Given the description of an element on the screen output the (x, y) to click on. 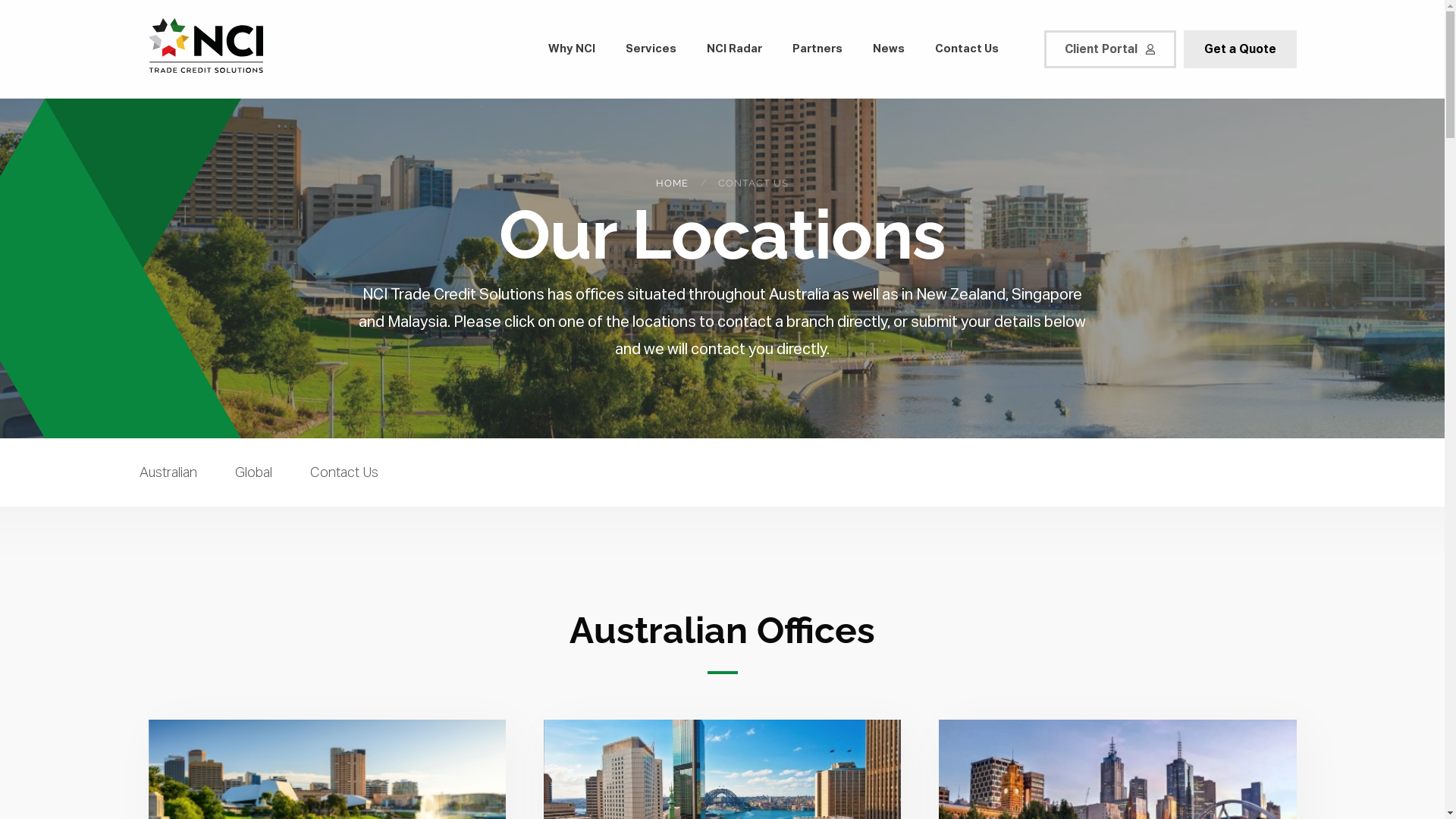
Why NCI Element type: text (570, 49)
HOME Element type: text (671, 182)
NCI Radar Element type: text (734, 49)
Contact Us Element type: text (334, 478)
Services Element type: text (649, 49)
Australian Element type: text (177, 478)
Contact Us Element type: text (965, 49)
Partners Element type: text (816, 49)
Client Portal Element type: text (1109, 49)
Get a Quote Element type: text (1239, 49)
Search Element type: text (25, 9)
News Element type: text (887, 49)
Global Element type: text (252, 478)
